Given the description of an element on the screen output the (x, y) to click on. 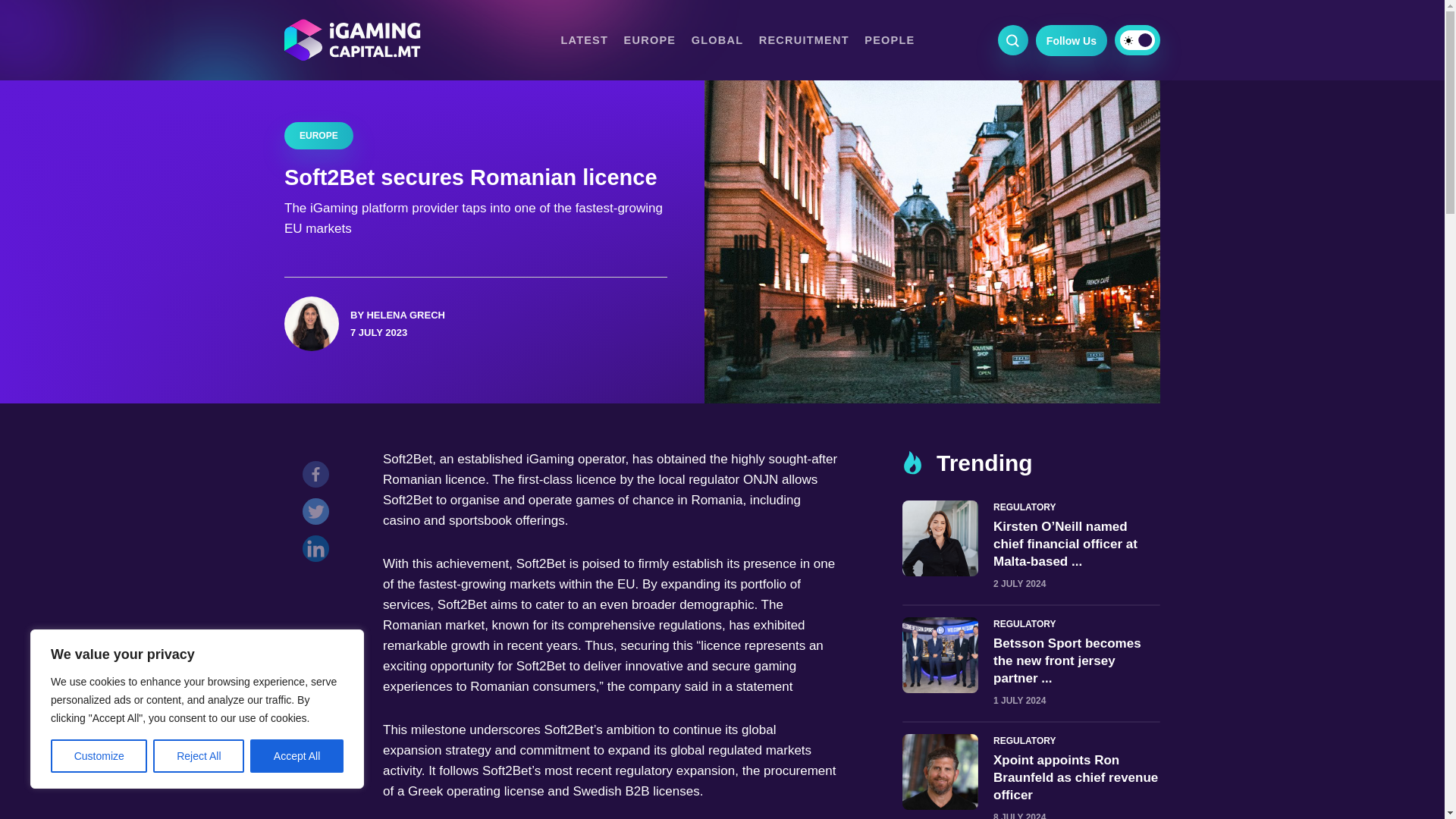
EUROPE (318, 135)
Linkedin (319, 552)
LATEST (584, 39)
Reject All (198, 756)
RECRUITMENT (803, 39)
Facebook (319, 478)
Customize (98, 756)
EUROPE (650, 39)
Accept All (296, 756)
Twitter (319, 514)
PEOPLE (889, 39)
GLOBAL (717, 39)
